Given the description of an element on the screen output the (x, y) to click on. 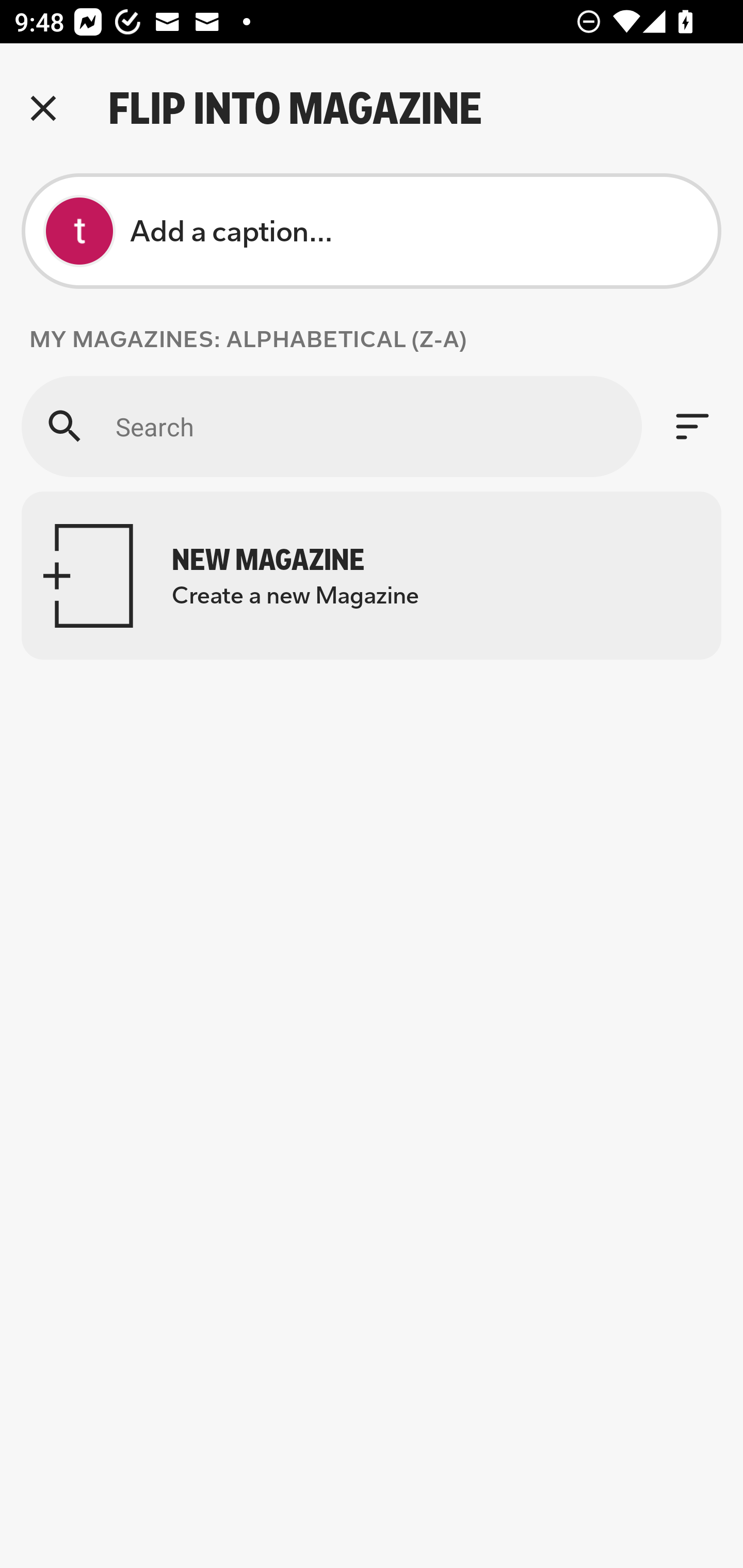
test appium Add a caption… (371, 231)
Search (331, 426)
NEW MAGAZINE Create a new Magazine (371, 575)
